Given the description of an element on the screen output the (x, y) to click on. 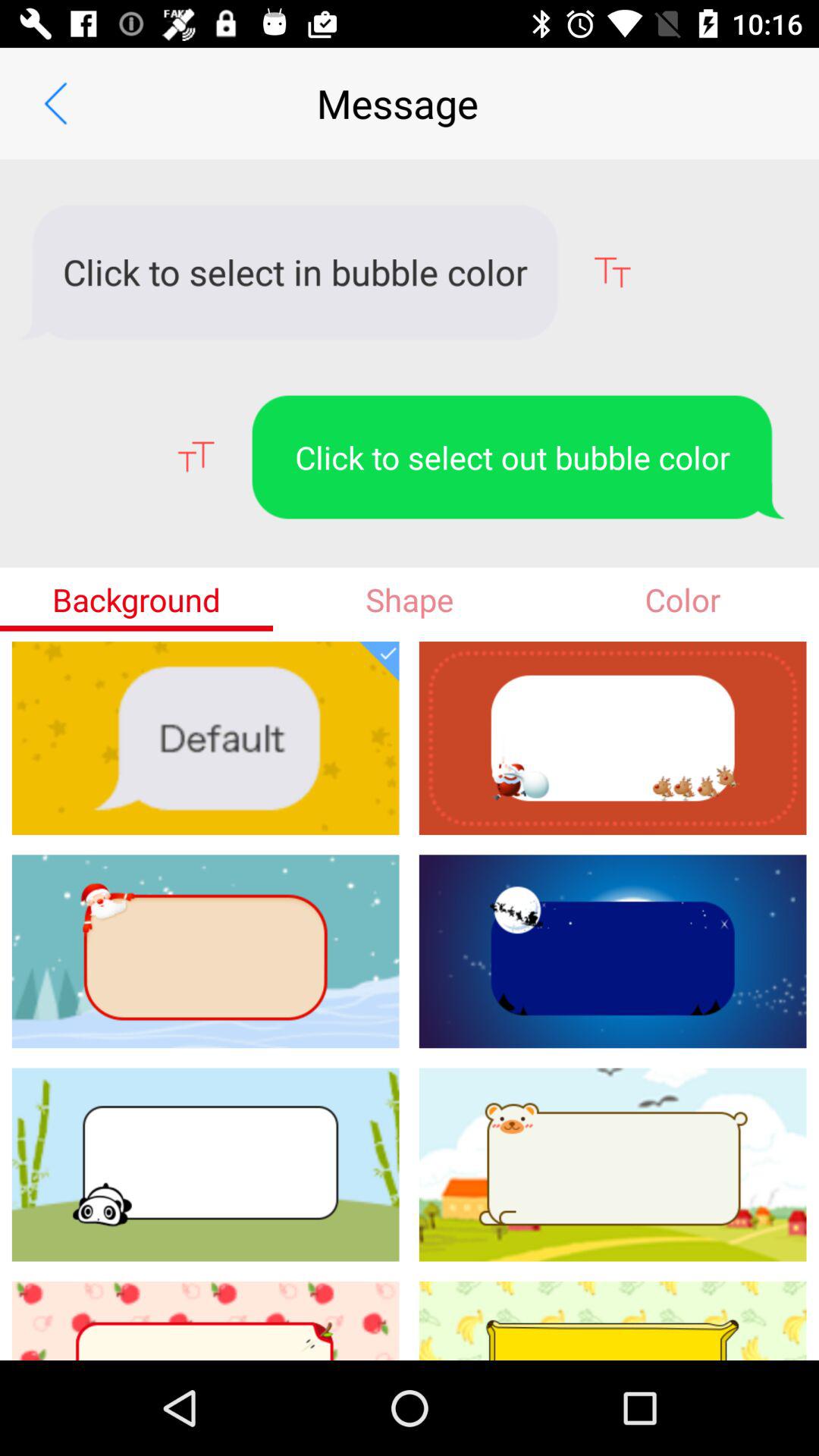
tap the background icon (136, 599)
